Given the description of an element on the screen output the (x, y) to click on. 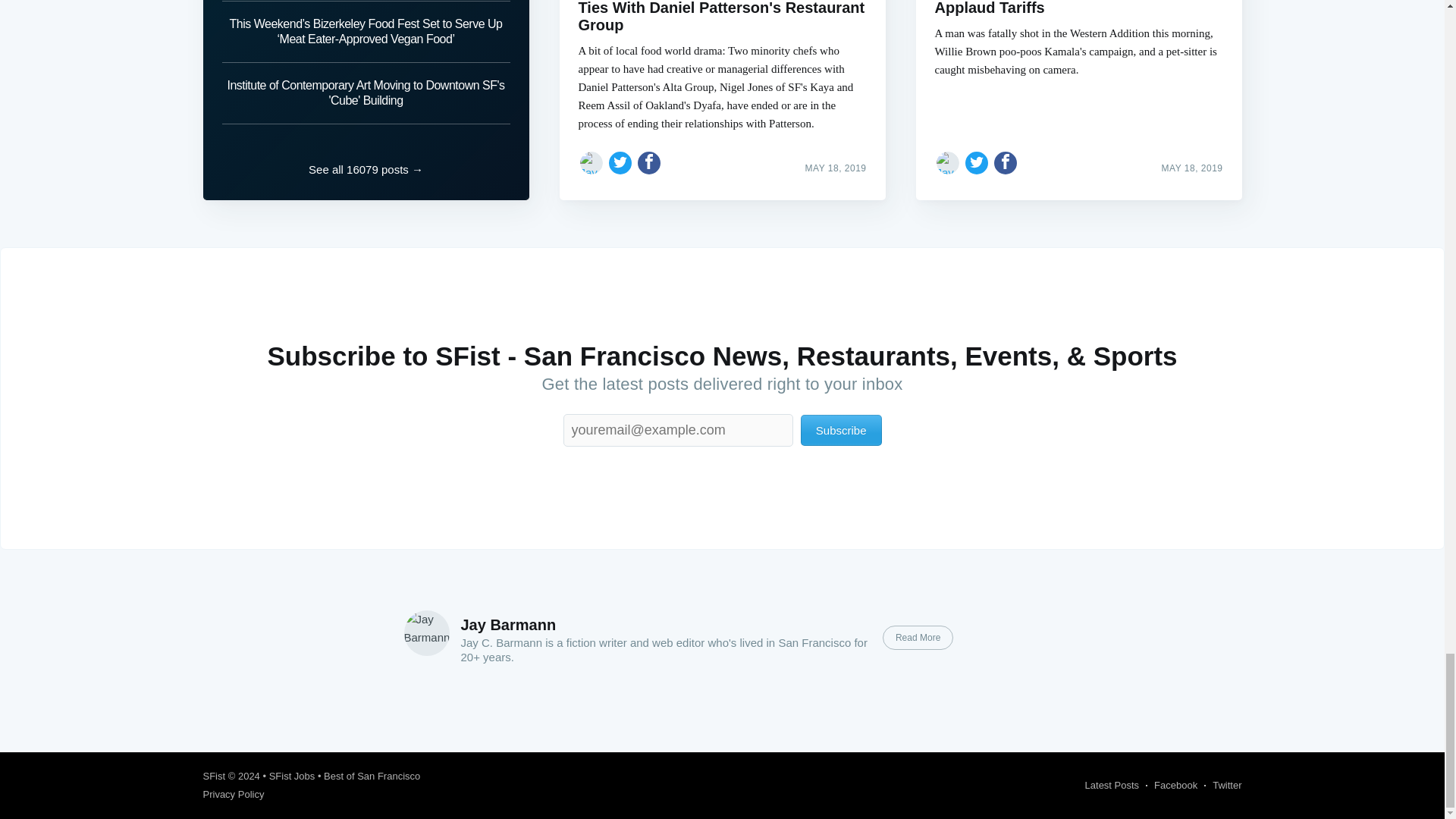
Share on Twitter (620, 162)
Share on Facebook (1004, 162)
Share on Twitter (976, 162)
Share on Facebook (649, 162)
